Given the description of an element on the screen output the (x, y) to click on. 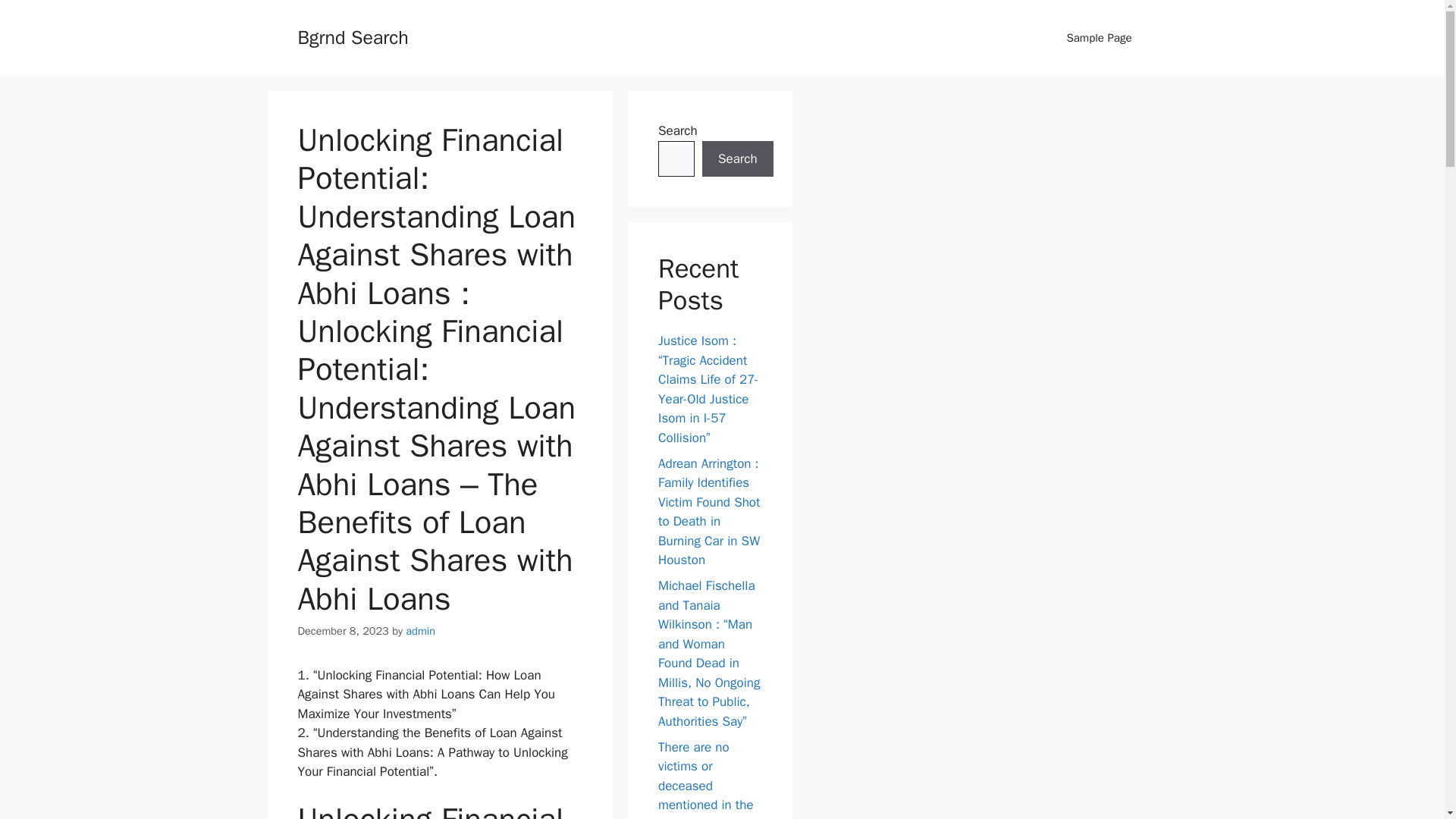
admin (420, 631)
View all posts by admin (420, 631)
Sample Page (1099, 37)
Search (737, 158)
Bgrnd Search (352, 37)
